Given the description of an element on the screen output the (x, y) to click on. 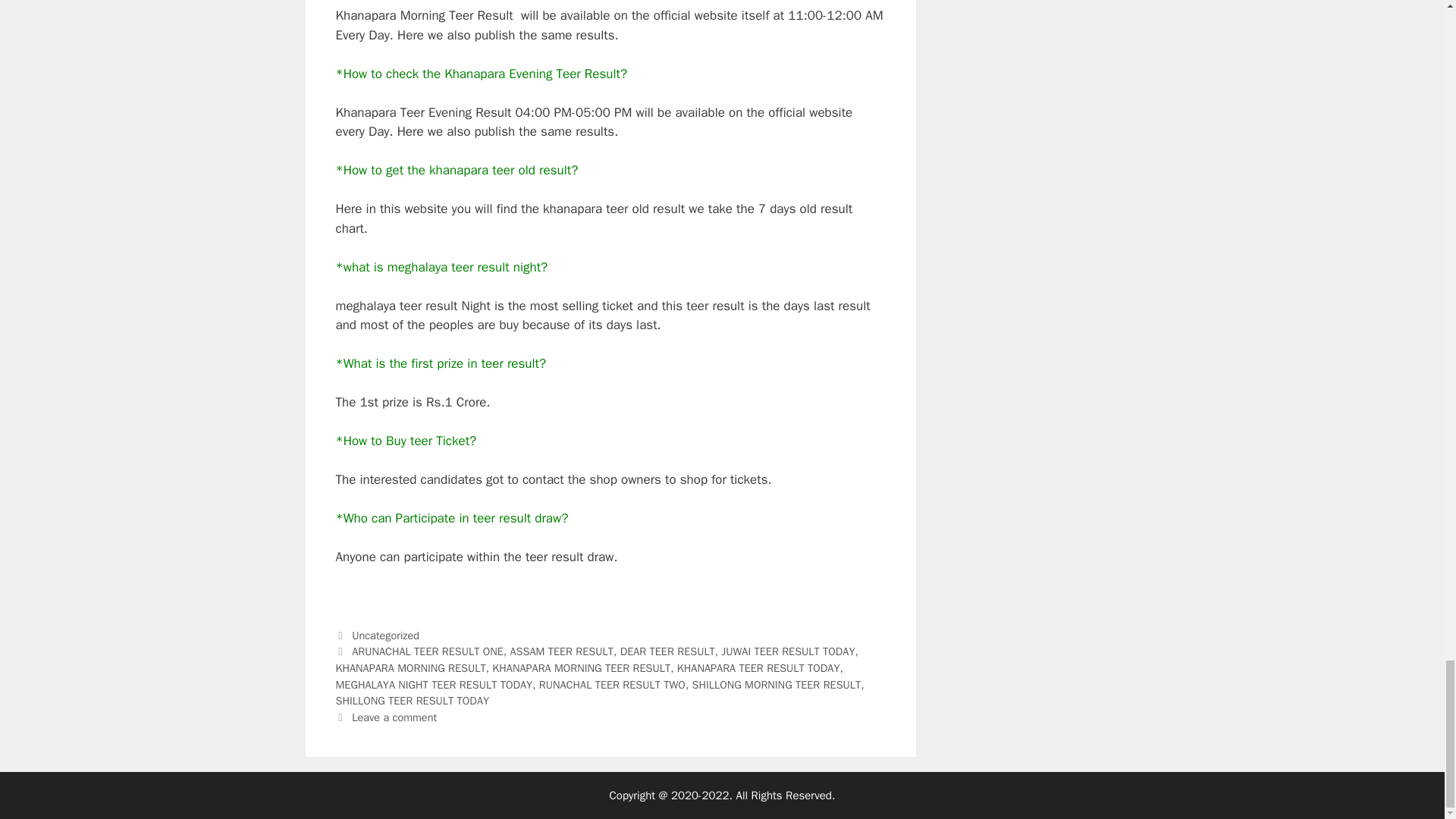
Uncategorized (385, 635)
KHANAPARA TEER RESULT TODAY (758, 667)
JUWAI TEER RESULT TODAY (789, 651)
MEGHALAYA NIGHT TEER RESULT TODAY (433, 684)
KHANAPARA MORNING TEER RESULT (580, 667)
Leave a comment (394, 716)
RUNACHAL TEER RESULT TWO (611, 684)
KHANAPARA MORNING RESULT (409, 667)
SHILLONG MORNING TEER RESULT (777, 684)
ASSAM TEER RESULT (560, 651)
